Given the description of an element on the screen output the (x, y) to click on. 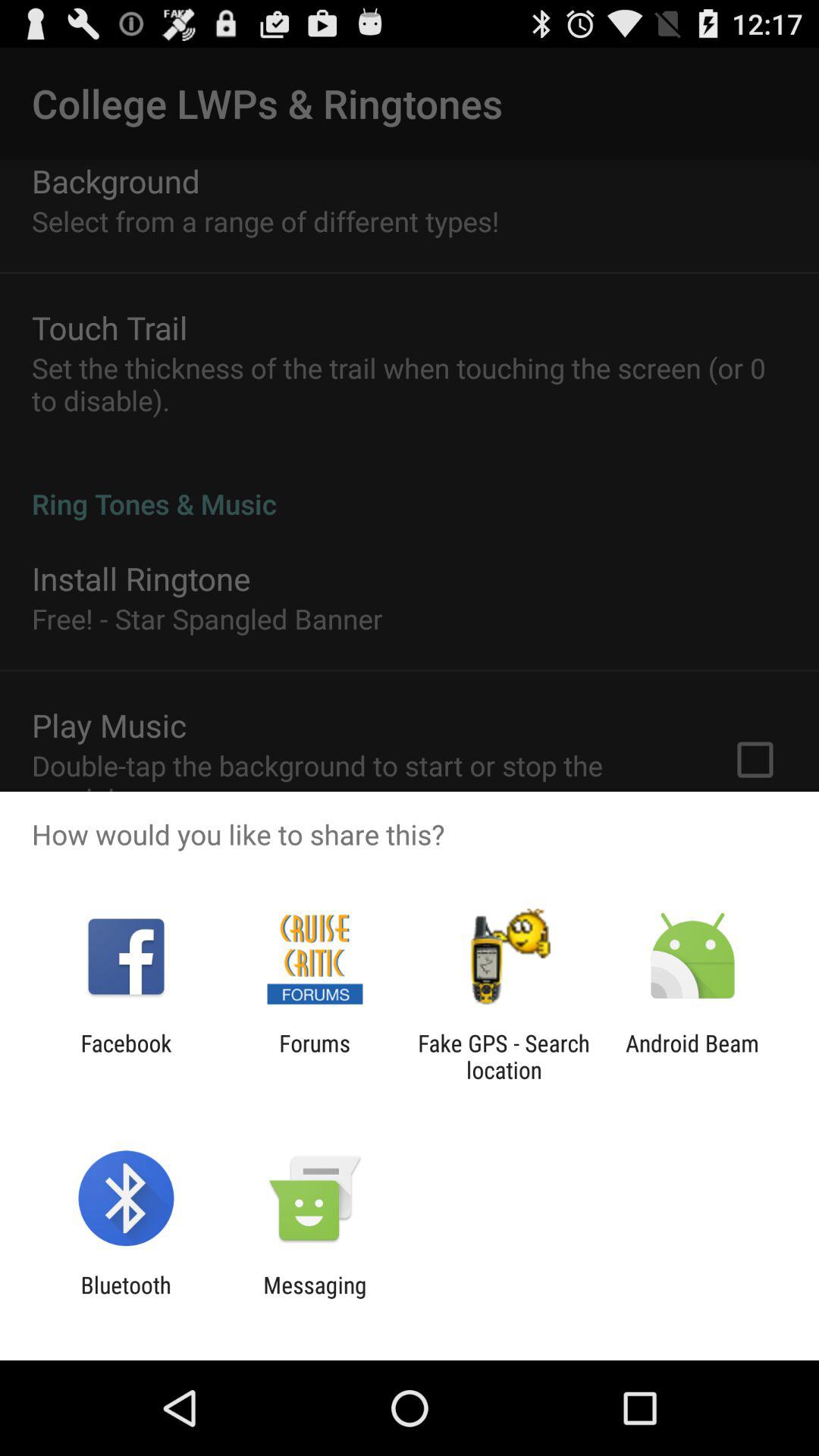
turn on item next to the bluetooth icon (314, 1298)
